Given the description of an element on the screen output the (x, y) to click on. 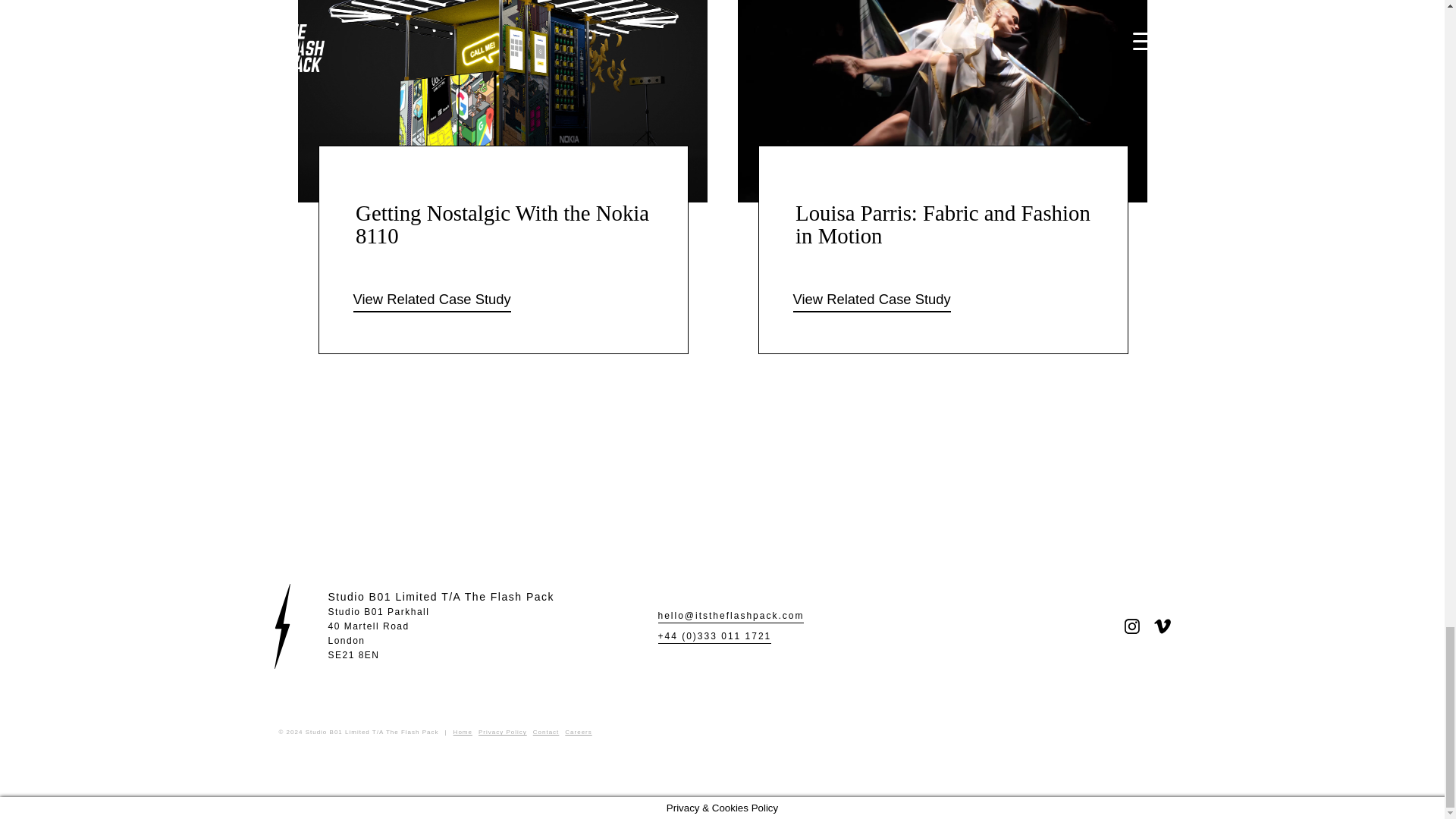
Careers (440, 634)
vimeo (577, 731)
View Related Case Study (1161, 626)
instagram (432, 300)
Home (1131, 626)
Contact (461, 731)
Privacy Policy (545, 731)
View Related Case Study (503, 731)
